Given the description of an element on the screen output the (x, y) to click on. 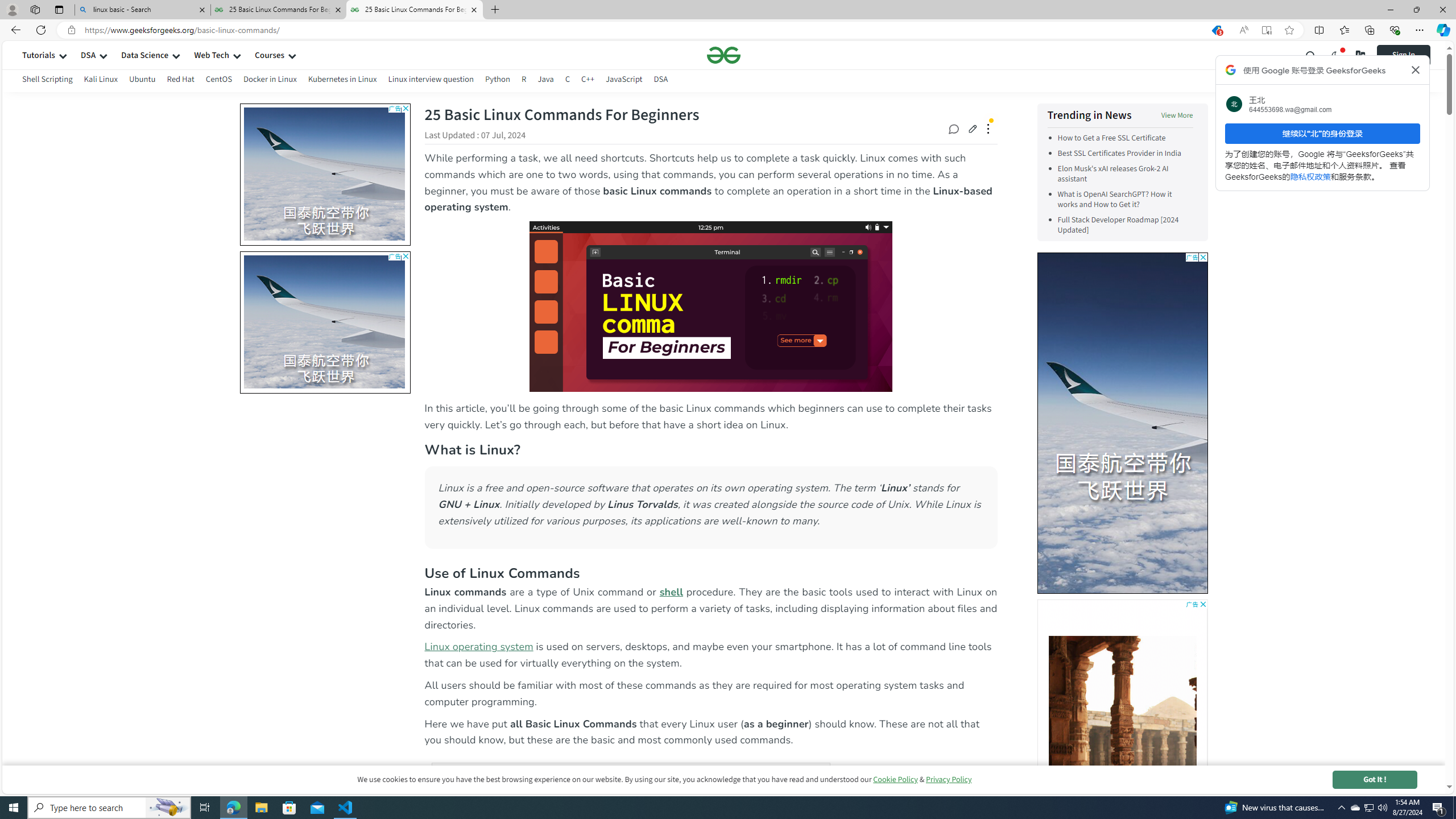
Linux operating system (477, 646)
Basic Linux Commands (710, 306)
